Given the description of an element on the screen output the (x, y) to click on. 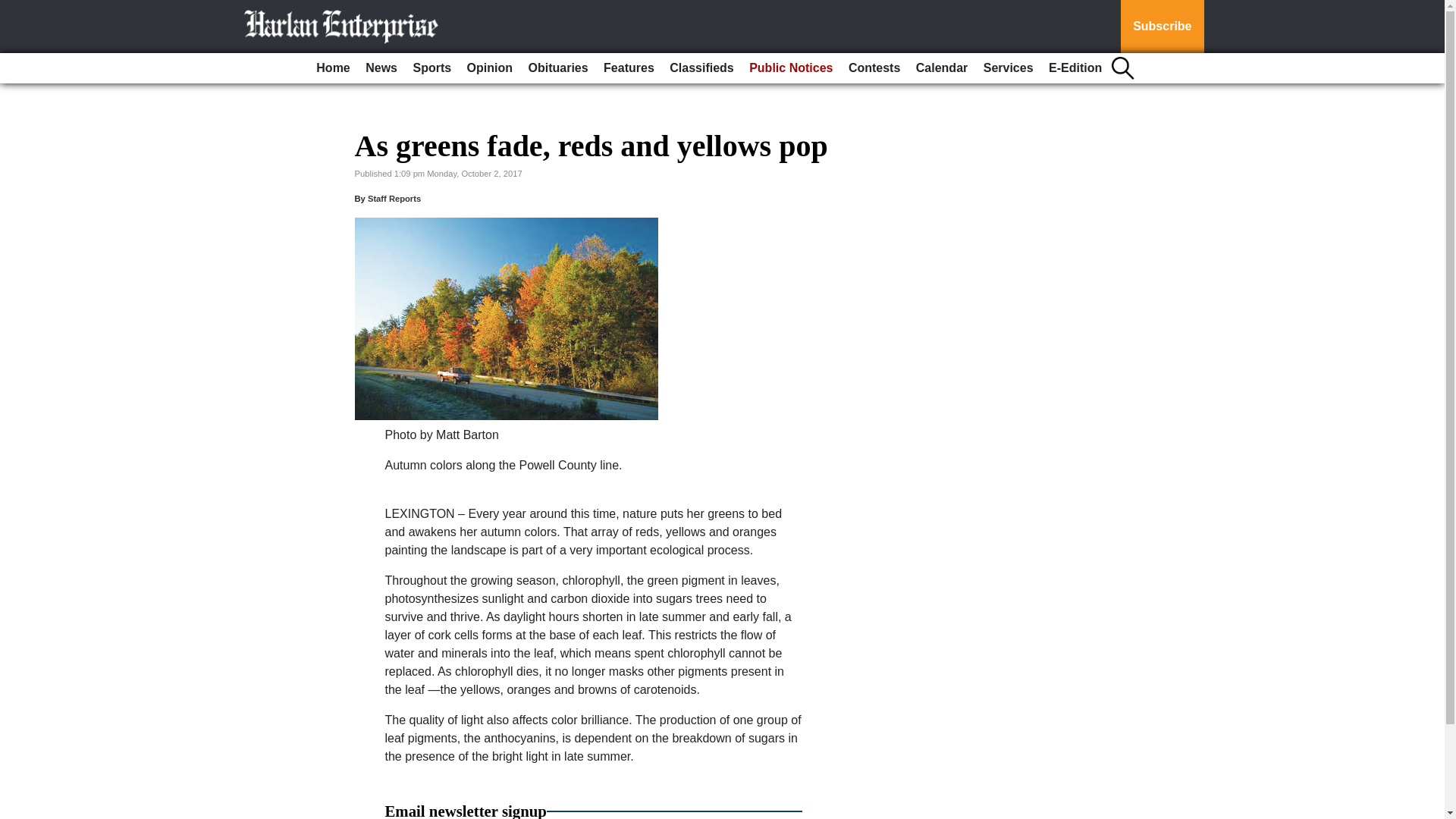
Public Notices (790, 68)
Calendar (942, 68)
Features (628, 68)
Obituaries (557, 68)
E-Edition (1075, 68)
Sports (431, 68)
Go (13, 9)
Home (332, 68)
Classifieds (701, 68)
Opinion (489, 68)
